Given the description of an element on the screen output the (x, y) to click on. 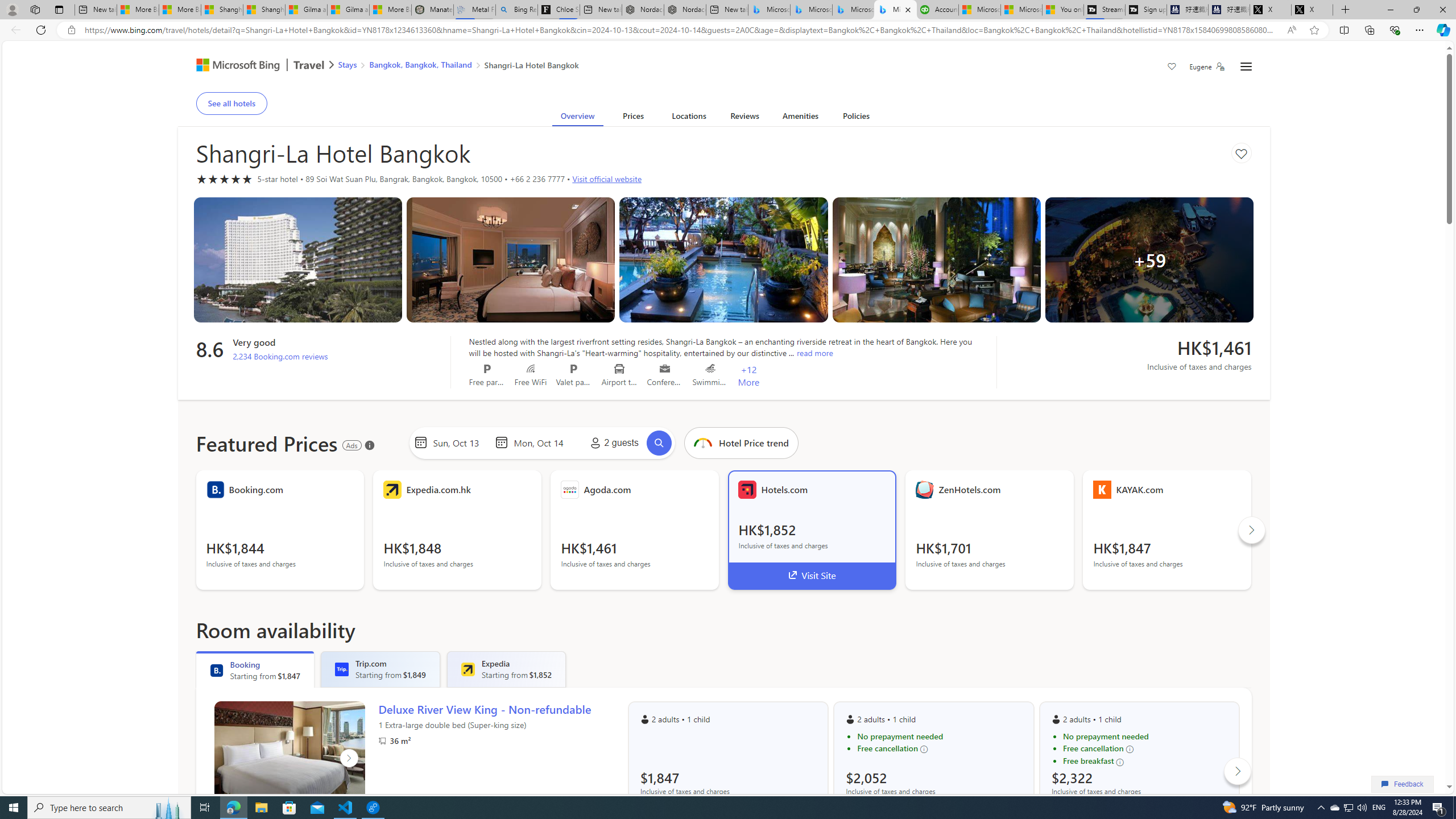
2,234 Booking.com reviews (279, 355)
Expedia (467, 669)
5-star hotel  (224, 179)
TripDotCom Trip.com Starting from $1,849 (379, 669)
Price Trend graph (740, 442)
Locations (688, 118)
2 guests (611, 442)
Free cancellation (1144, 748)
Expedia Expedia Starting from $1,852 (506, 669)
